Given the description of an element on the screen output the (x, y) to click on. 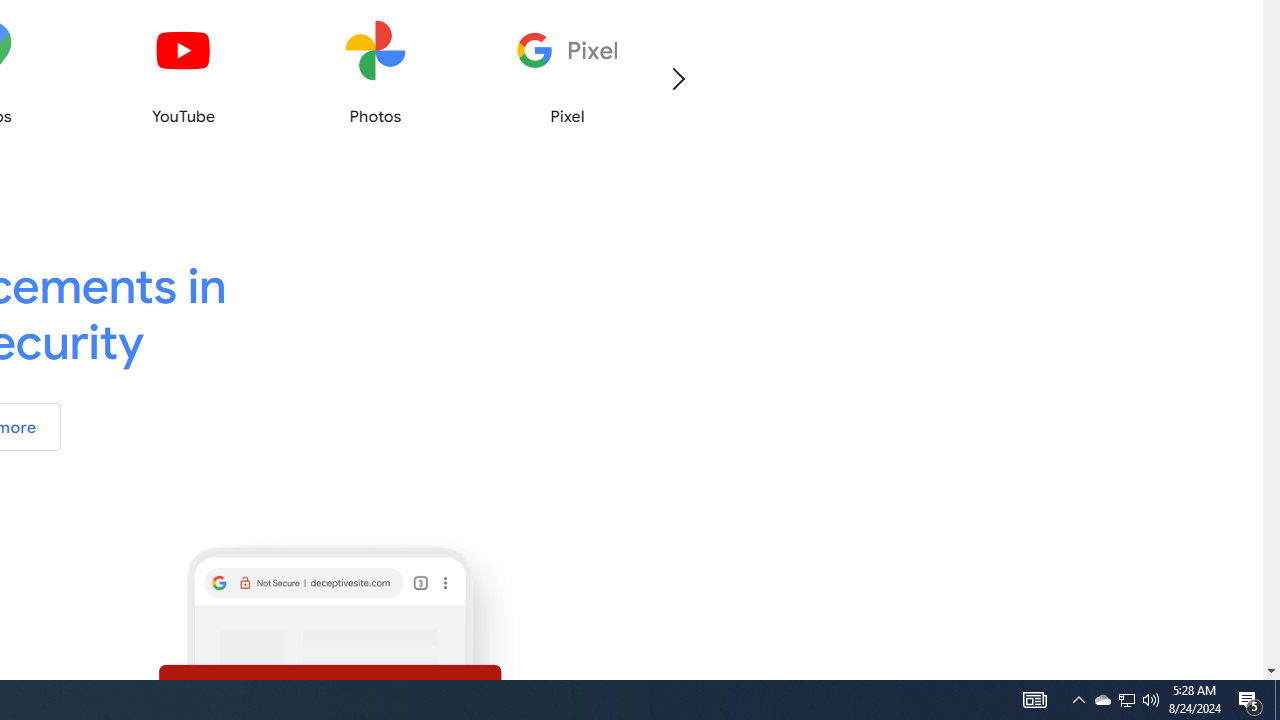
Next (677, 78)
